Given the description of an element on the screen output the (x, y) to click on. 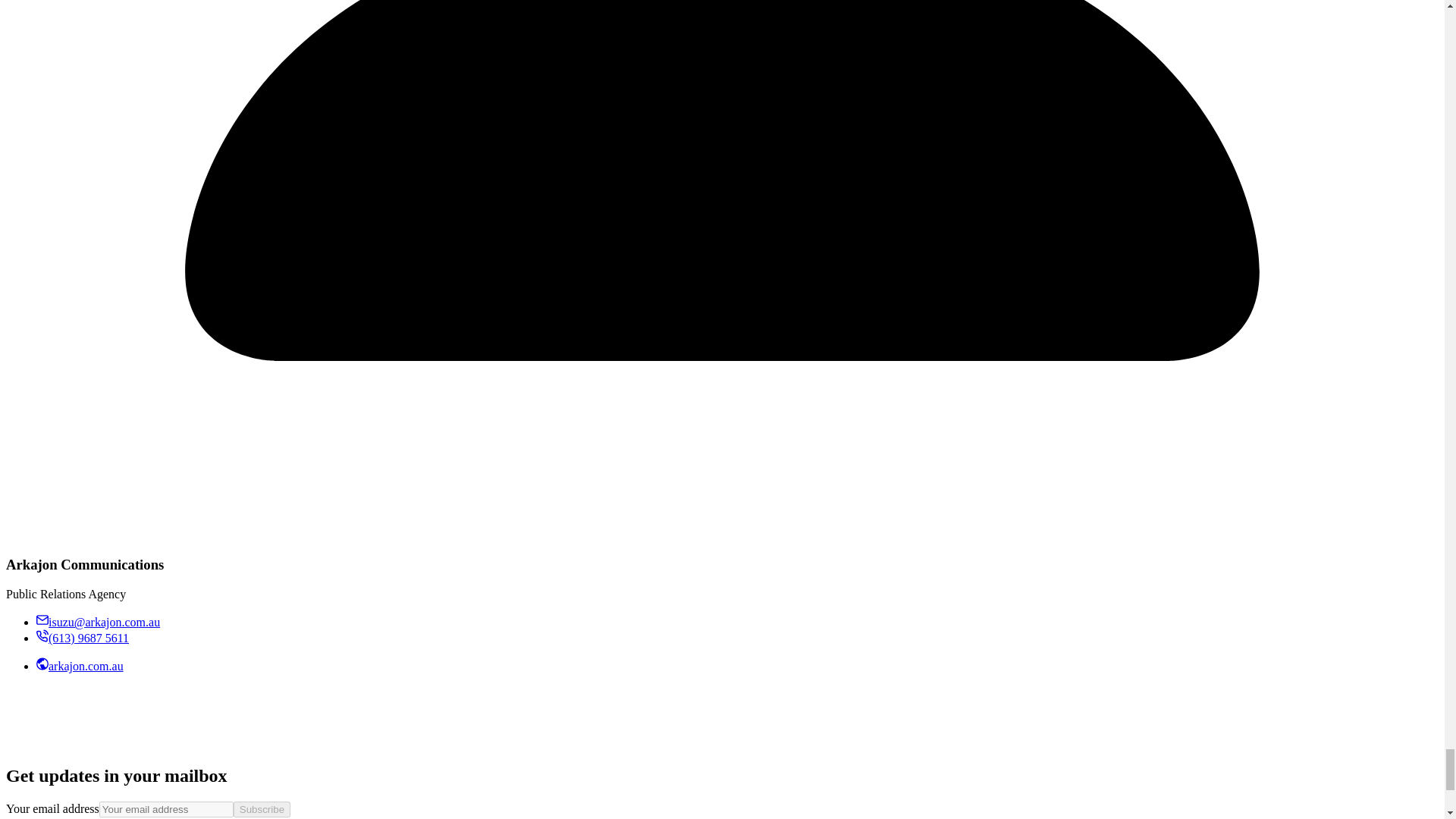
Subscribe (260, 809)
arkajon.com.au (79, 666)
